Given the description of an element on the screen output the (x, y) to click on. 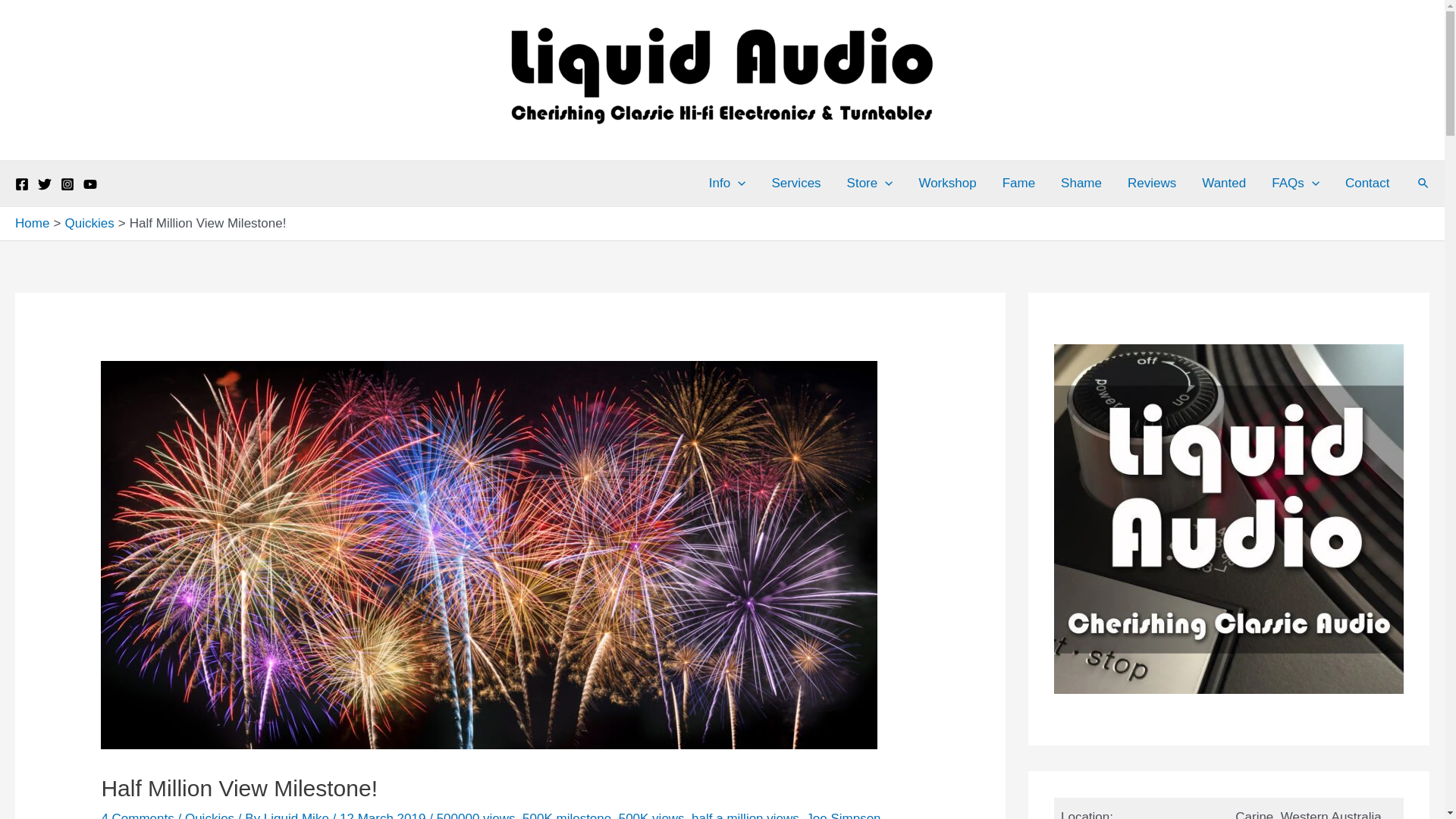
Shame Element type: text (1081, 183)
Quickies Element type: text (88, 223)
Wanted Element type: text (1223, 183)
FAQs Element type: text (1295, 183)
Home Element type: text (32, 223)
Contact Element type: text (1367, 183)
LiQUiD AUDiO Element type: text (504, 139)
Reviews Element type: text (1151, 183)
Search Element type: text (1424, 183)
Services Element type: text (795, 183)
Fame Element type: text (1018, 183)
Store Element type: text (870, 183)
Info Element type: text (727, 183)
Half Million View Milestone! 2 Element type: hover (488, 554)
Workshop Element type: text (946, 183)
